Given the description of an element on the screen output the (x, y) to click on. 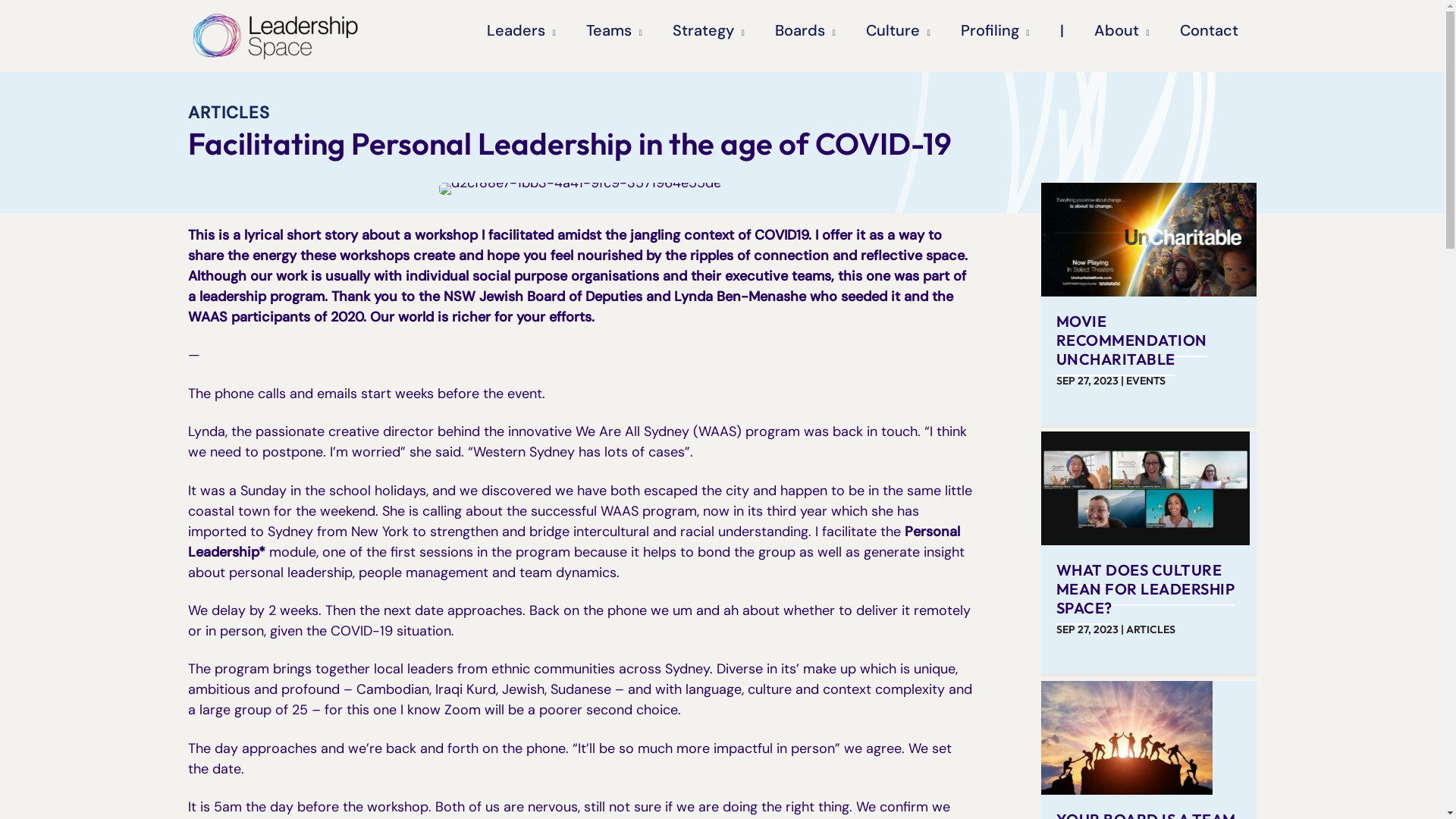
Culture Element type: text (897, 30)
EVENTS Element type: text (1145, 380)
About Element type: text (1121, 30)
Contact Element type: text (1208, 30)
d2cf88e7-1bb3-4a41-9fc9-3571964e55de Element type: hover (580, 188)
Teams Element type: text (614, 30)
ARTICLES Element type: text (1150, 629)
MOVIE RECOMMENDATION Uncharitable Element type: hover (1149, 238)
ARTICLES Element type: text (228, 112)
Boards Element type: text (804, 30)
Leaders Element type: text (521, 30)
| Element type: text (1061, 30)
What does culture mean for Leadership Space? Element type: hover (1145, 487)
Profiling Element type: text (994, 30)
WHAT DOES CULTURE MEAN FOR LEADERSHIP SPACE? Element type: text (1145, 588)
MOVIE RECOMMENDATION UNCHARITABLE Element type: text (1131, 339)
Strategy Element type: text (708, 30)
